Given the description of an element on the screen output the (x, y) to click on. 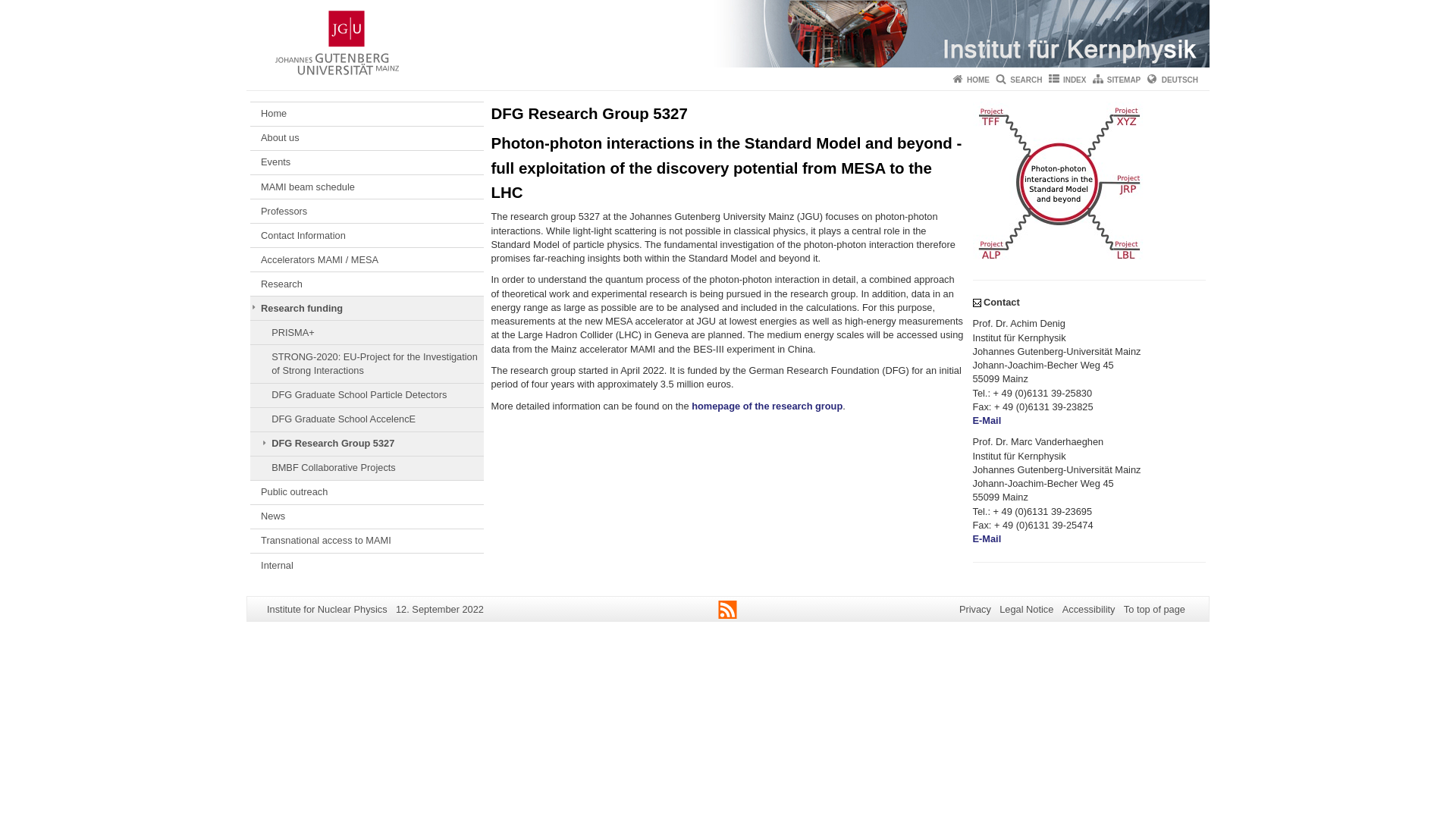
Johannes Gutenberg University Mainz (336, 42)
